Given the description of an element on the screen output the (x, y) to click on. 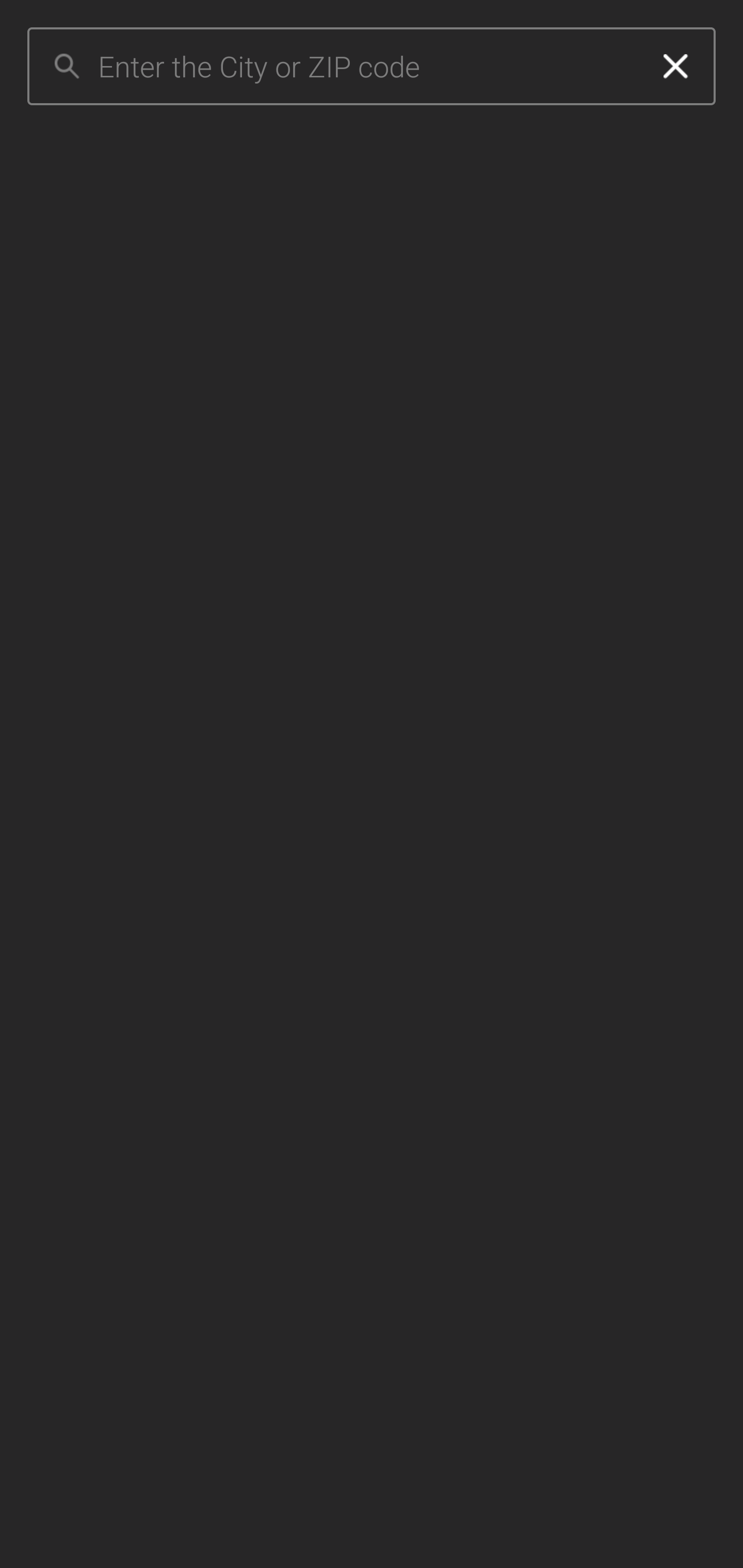
Enter the City or ZIP code (367, 66)
